Given the description of an element on the screen output the (x, y) to click on. 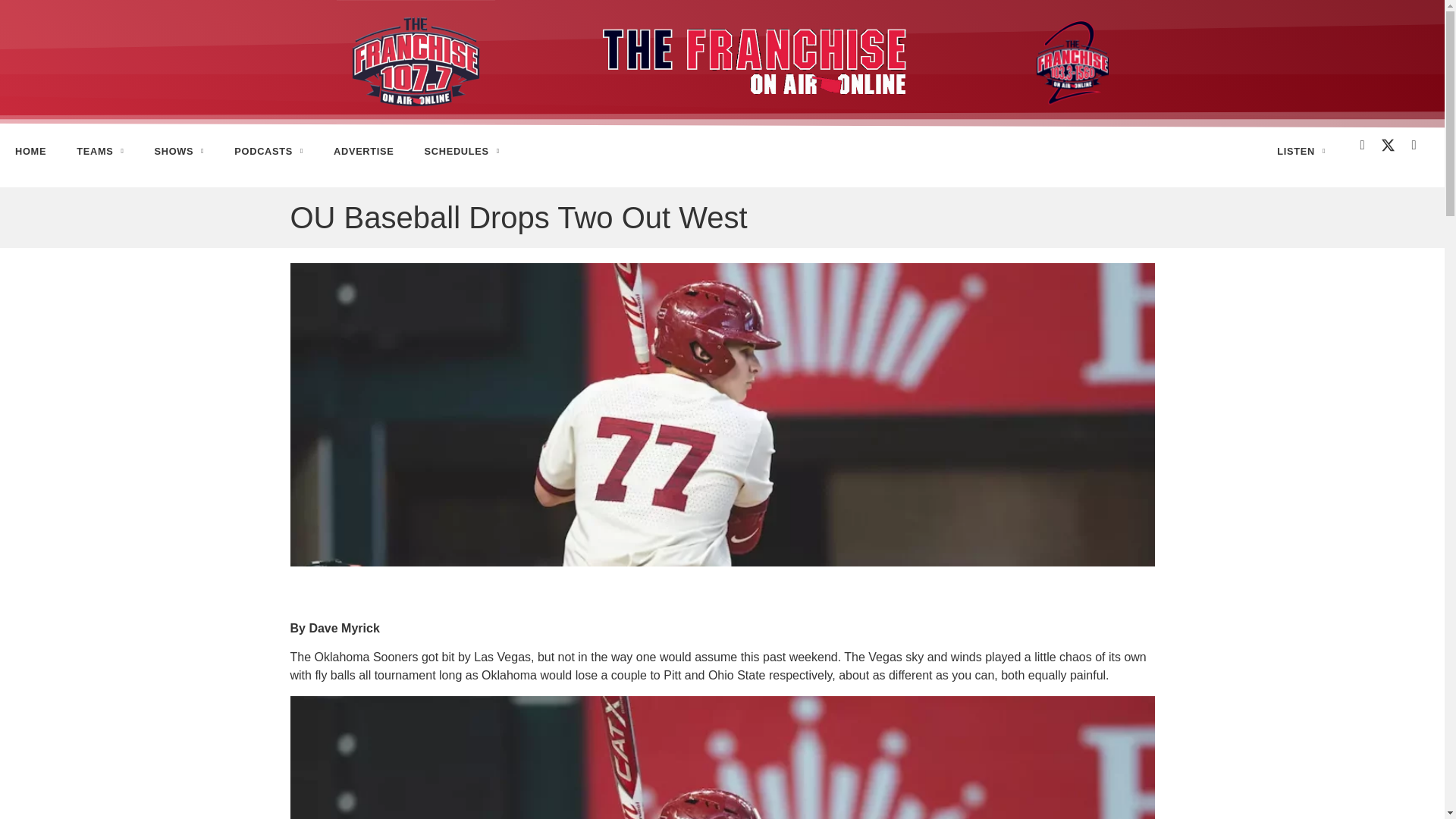
ADVERTISE (363, 151)
SHOWS (178, 151)
SCHEDULES (462, 151)
PODCASTS (268, 151)
TEAMS (99, 151)
HOME (30, 151)
